Given the description of an element on the screen output the (x, y) to click on. 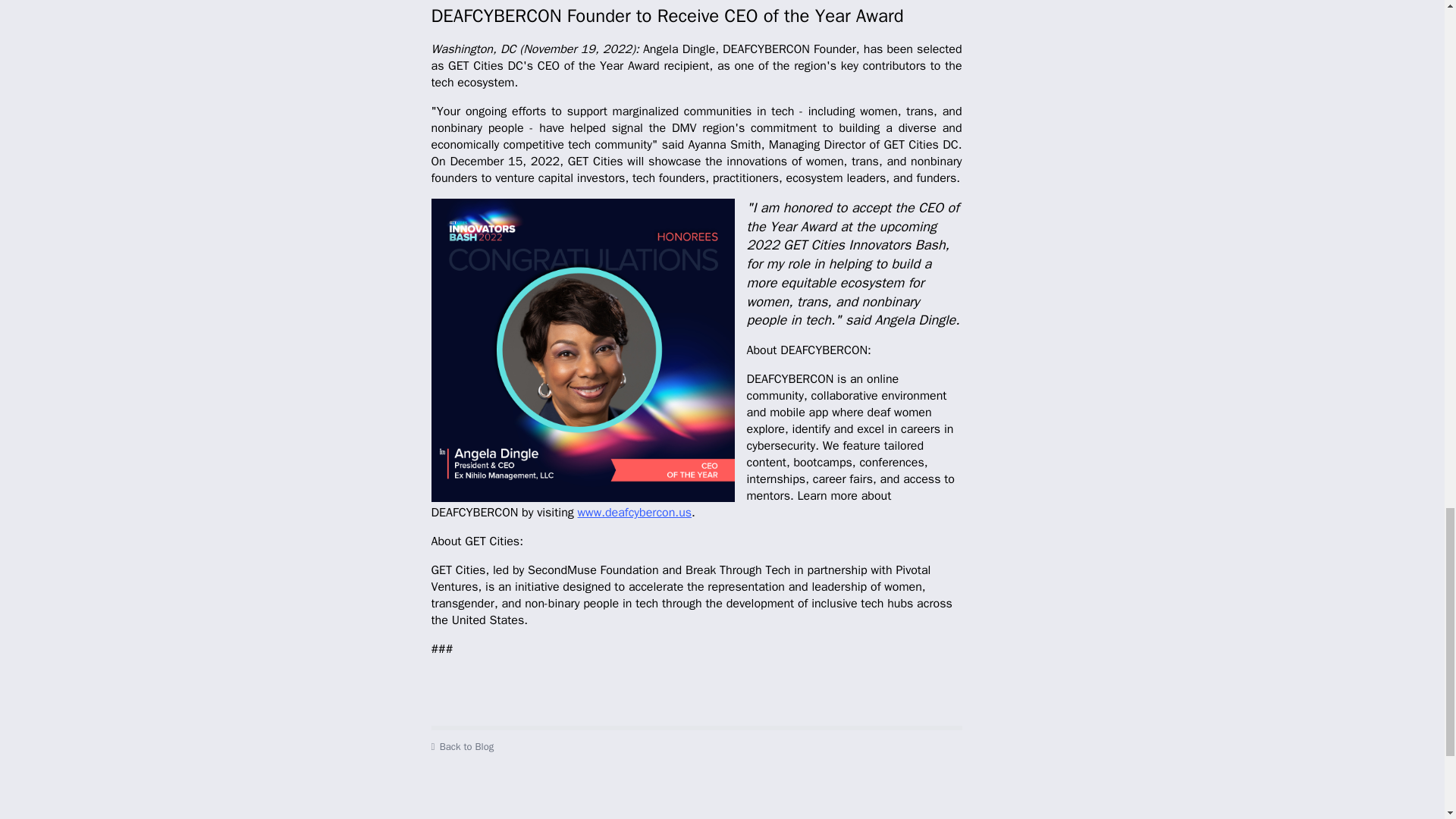
Back to Blog (695, 746)
www.deafcybercon.us (635, 512)
CEO of the Year (581, 350)
